Given the description of an element on the screen output the (x, y) to click on. 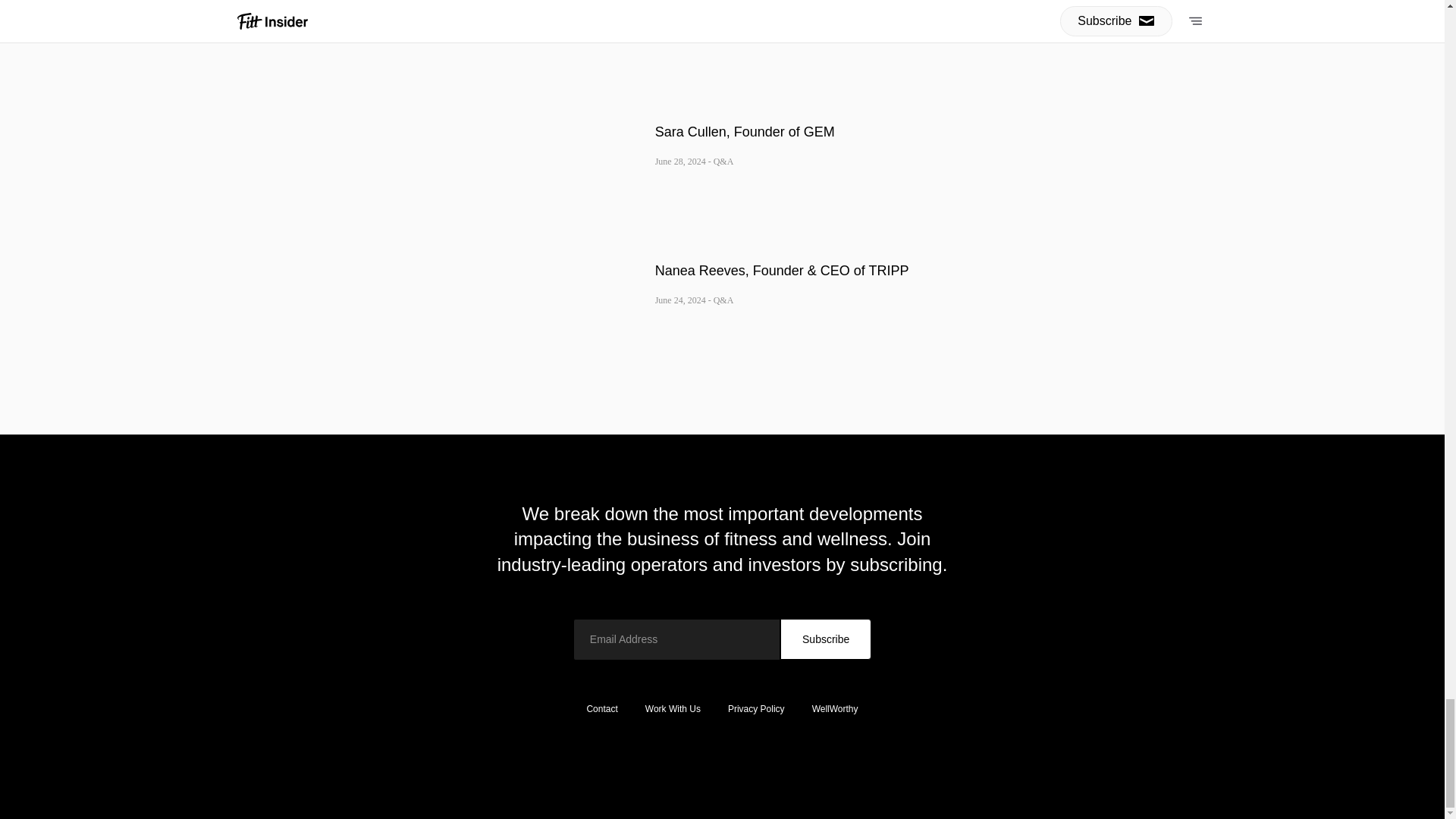
Privacy Policy (755, 708)
Contact (601, 708)
Work With Us (672, 708)
WellWorthy (834, 708)
Subscribe (825, 639)
Subscribe (825, 639)
